Given the description of an element on the screen output the (x, y) to click on. 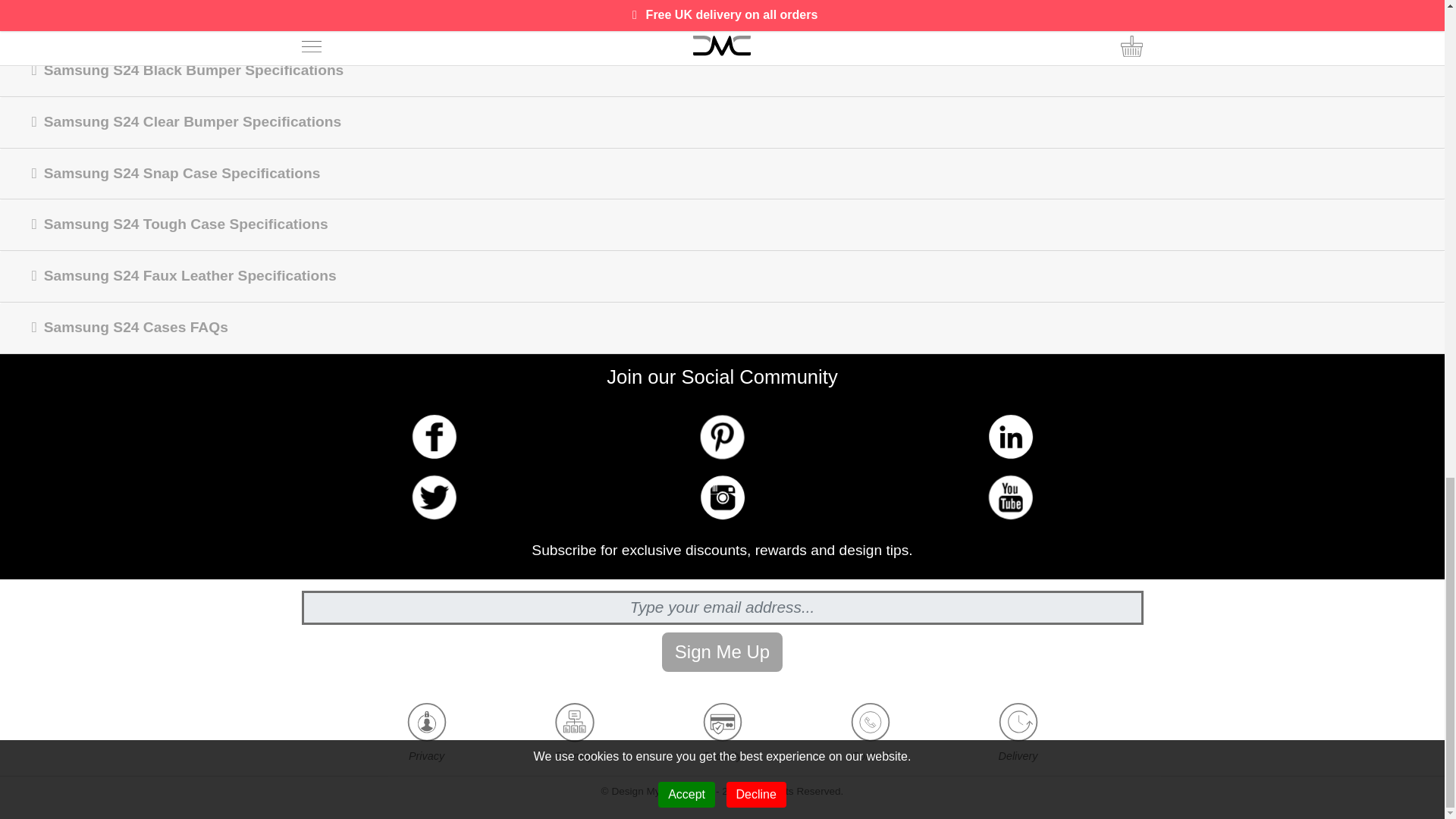
A Series (650, 7)
Note Series (794, 7)
J Series (506, 7)
M Series (937, 7)
S Series (362, 7)
